Given the description of an element on the screen output the (x, y) to click on. 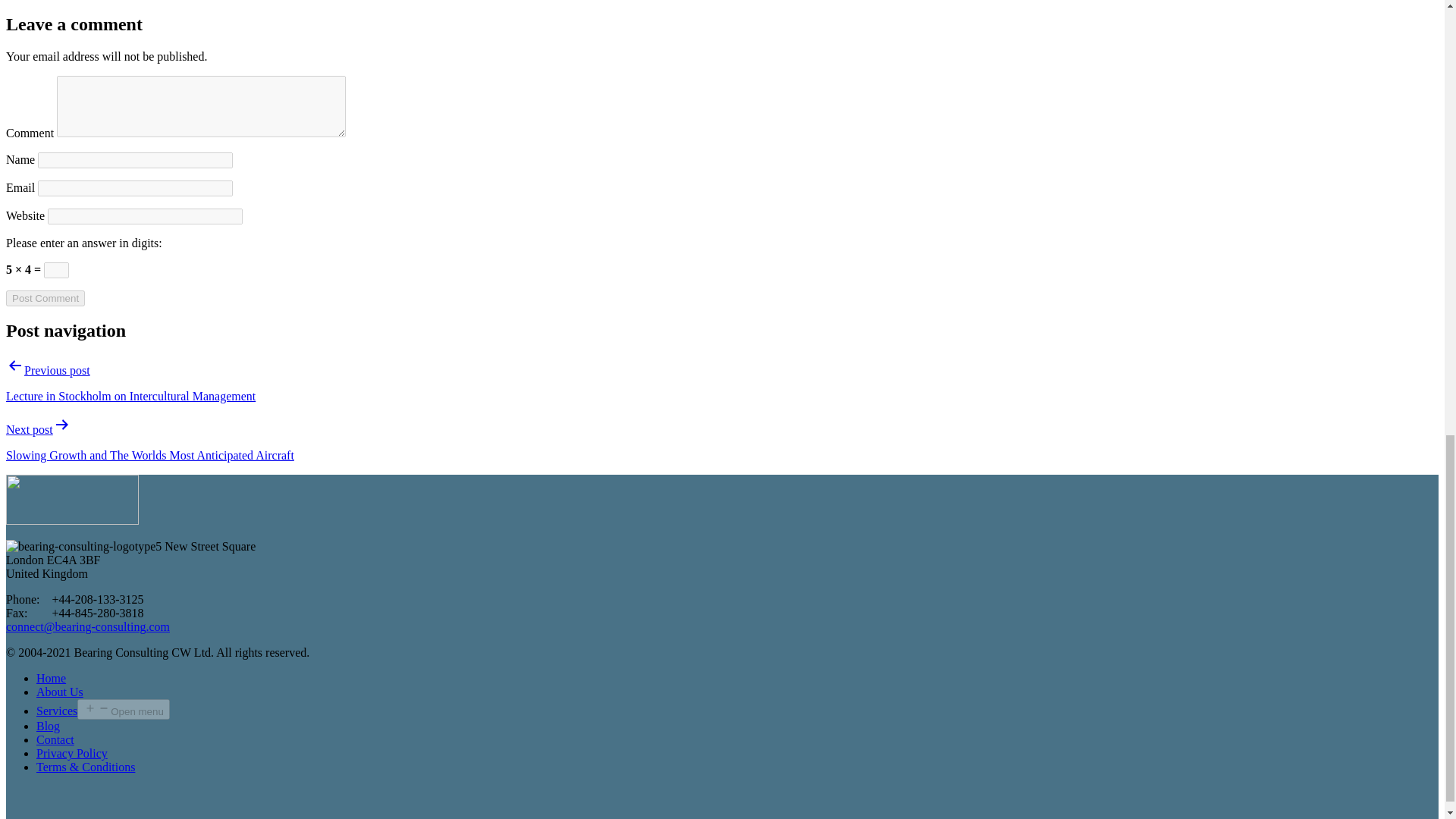
Home (50, 677)
Post Comment (44, 298)
Blog (47, 725)
About Us (59, 691)
Services (56, 710)
Post Comment (44, 298)
Privacy Policy (71, 753)
Open menu (123, 709)
Contact (55, 739)
